Given the description of an element on the screen output the (x, y) to click on. 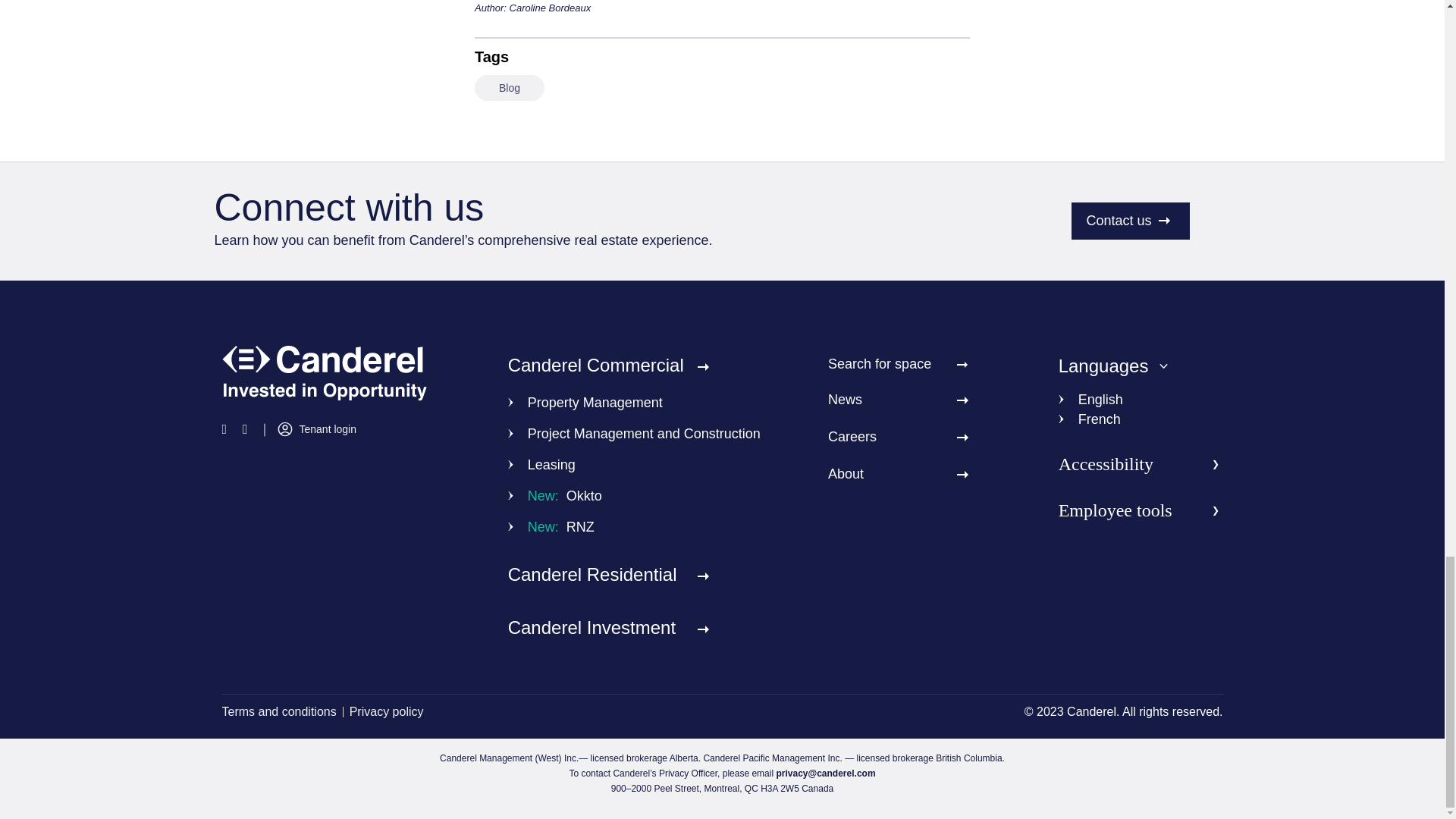
Contact us (1130, 220)
